Given the description of an element on the screen output the (x, y) to click on. 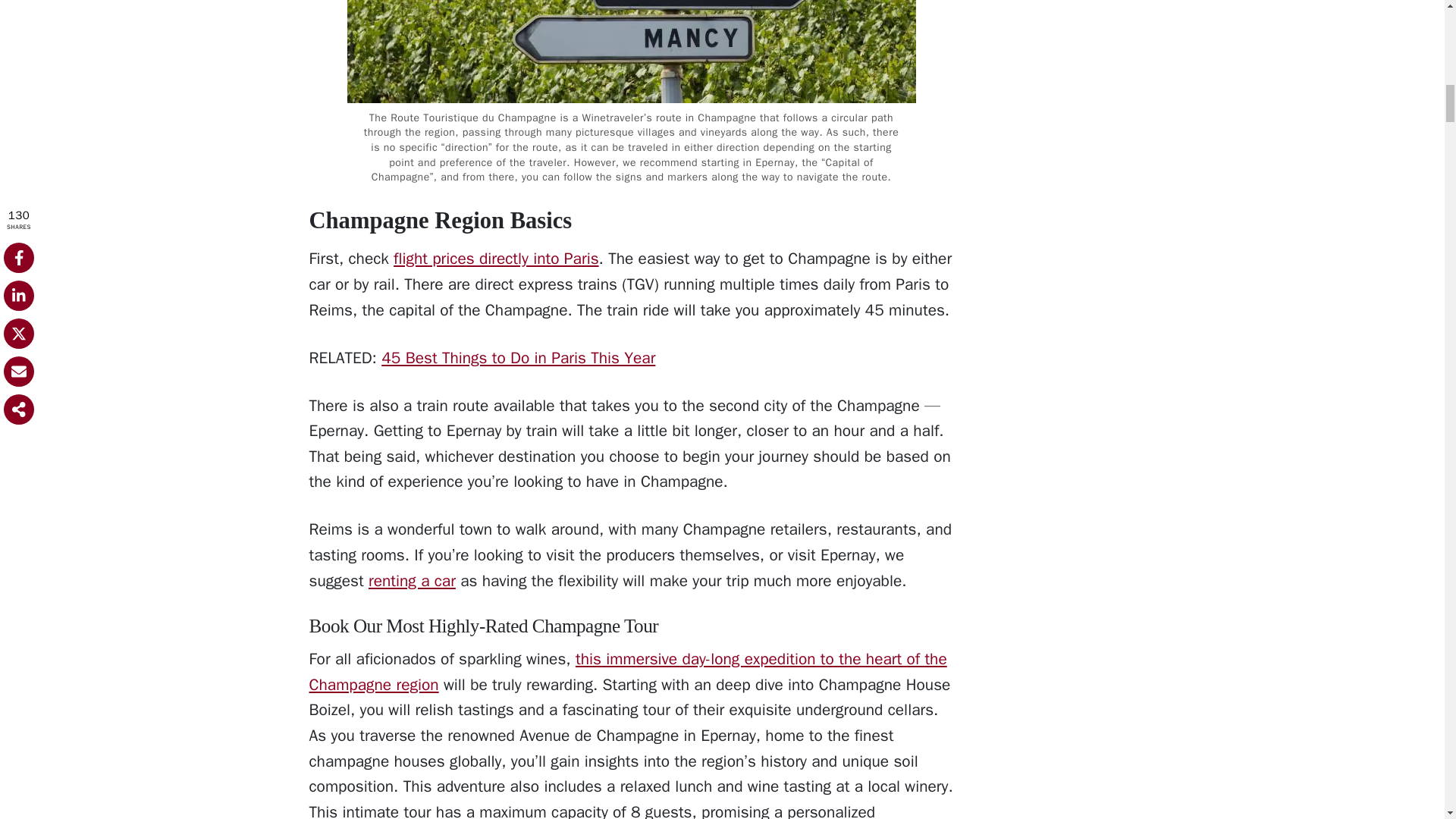
45 Best Things to Do in Paris This Year (518, 357)
flight prices directly into Paris (495, 258)
renting a car (411, 580)
